Given the description of an element on the screen output the (x, y) to click on. 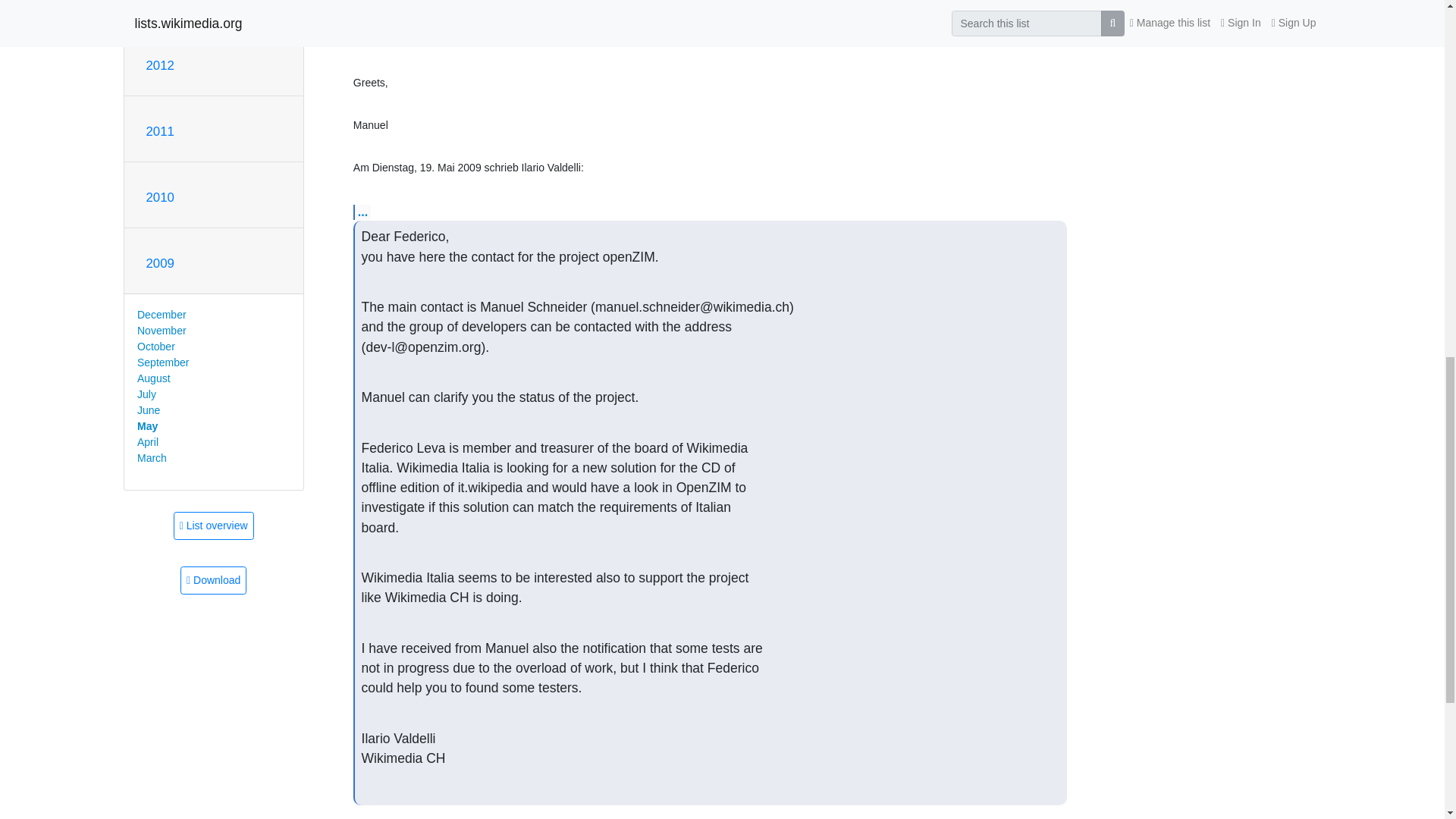
This message in gzipped mbox format (213, 580)
